Given the description of an element on the screen output the (x, y) to click on. 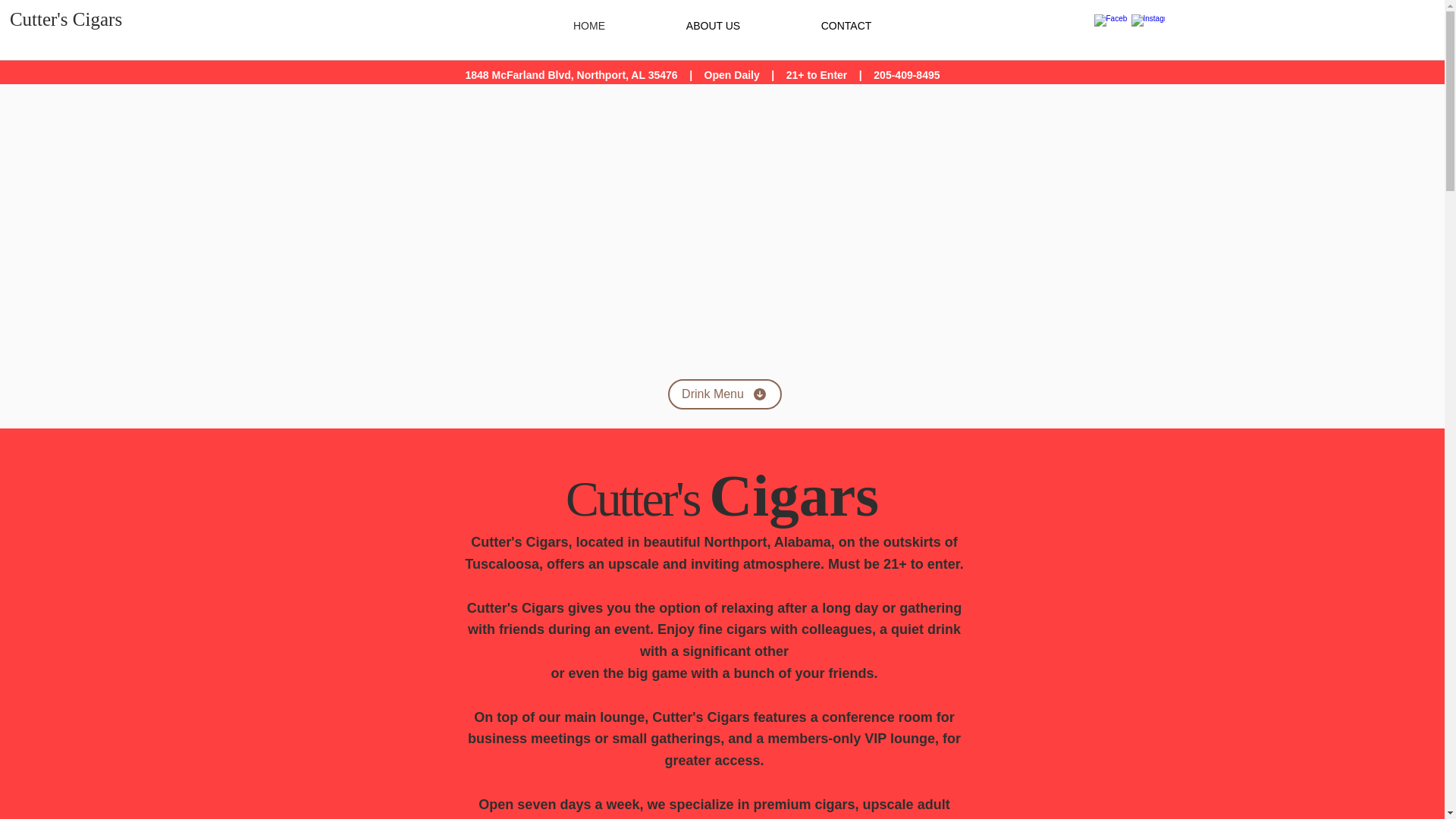
ABOUT US (713, 24)
HOME (588, 24)
CONTACT (846, 24)
Cutter's Cigars (66, 19)
Drink Menu (723, 394)
